Given the description of an element on the screen output the (x, y) to click on. 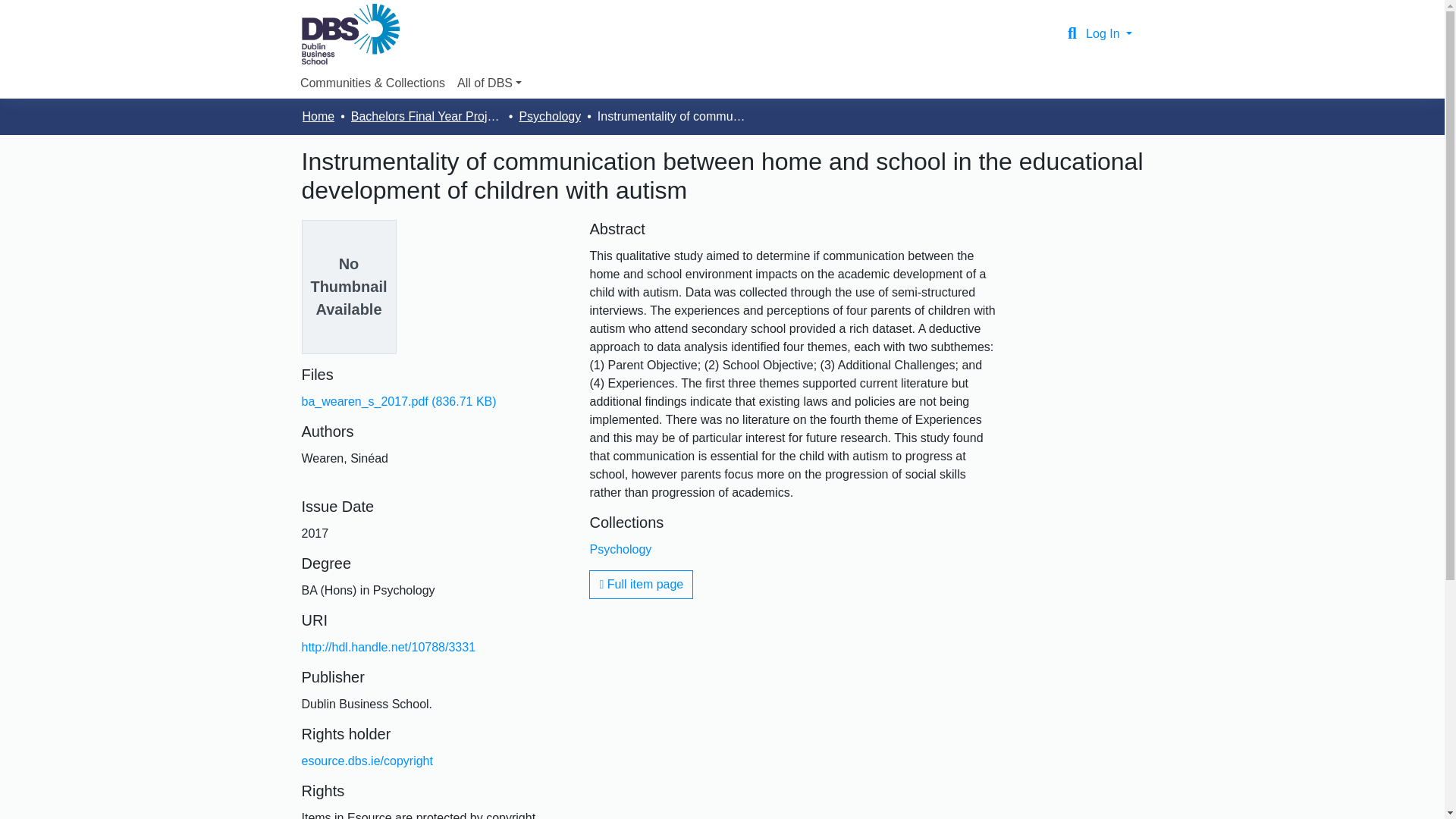
Search (1072, 34)
Log In (1108, 33)
Psychology (619, 549)
Home (317, 116)
Psychology (549, 116)
All of DBS (489, 82)
Bachelors Final Year Projects (426, 116)
Full item page (641, 584)
